Given the description of an element on the screen output the (x, y) to click on. 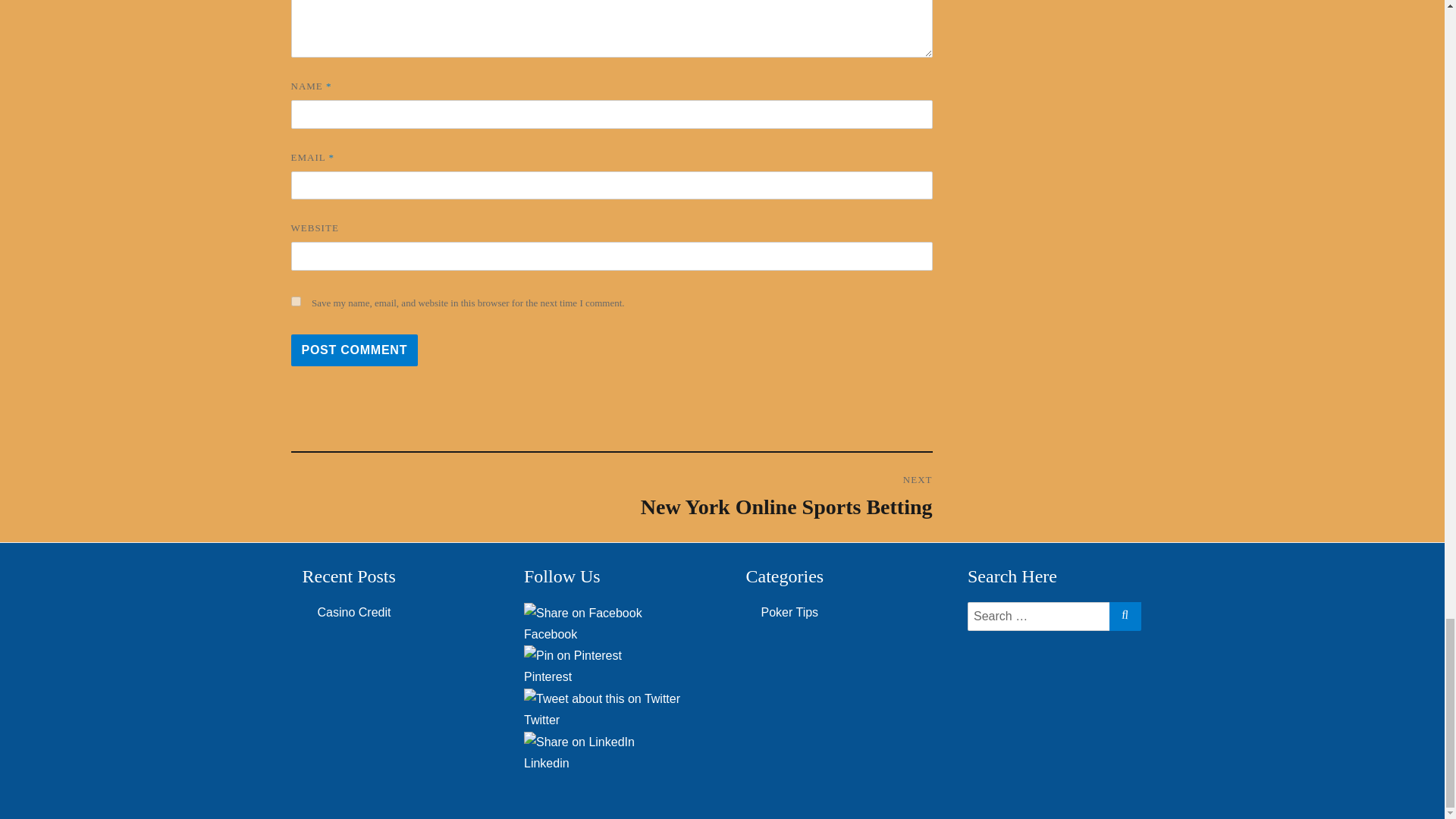
Post Comment (355, 350)
Linkedin (611, 762)
yes (296, 301)
Pinterest (611, 676)
Post Comment (355, 350)
Facebook (583, 613)
Pinterest (611, 677)
LinkedIn (579, 742)
Pinterest (572, 655)
Facebook (611, 634)
SEARCH (771, 496)
Poker Tips (1124, 614)
Twitter (789, 612)
Twitter (611, 719)
